Given the description of an element on the screen output the (x, y) to click on. 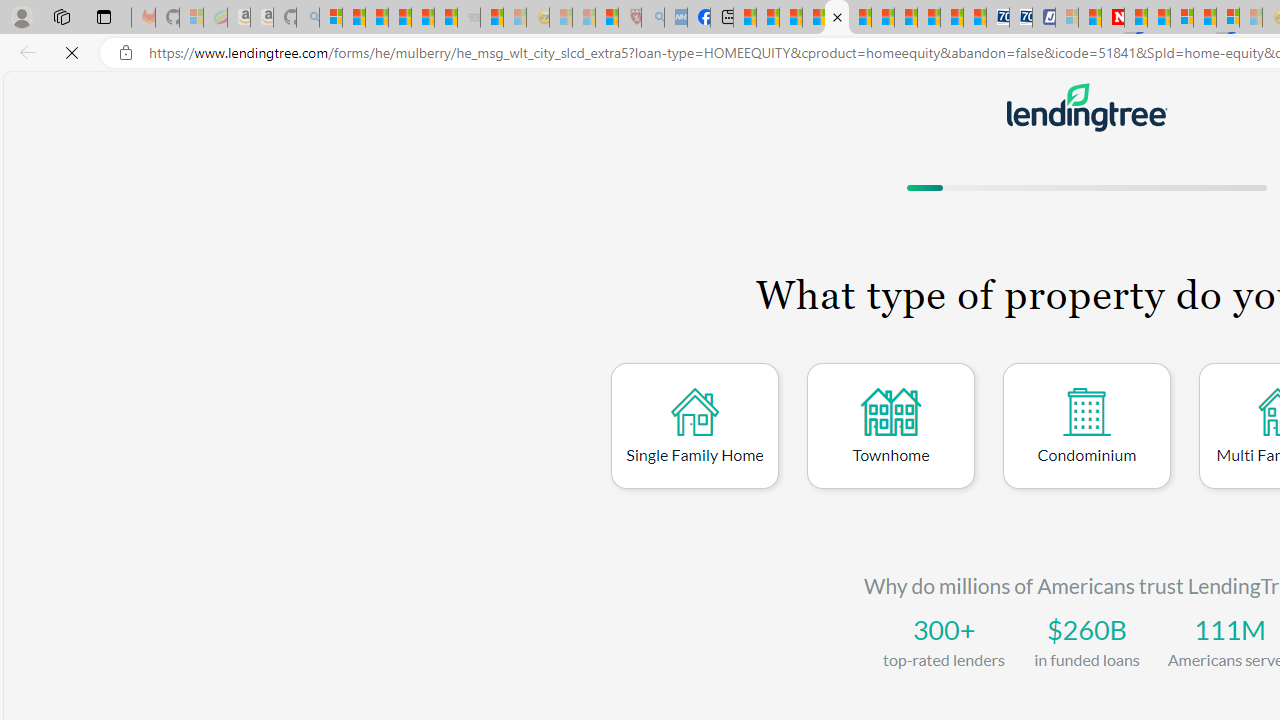
Stocks - MSN (445, 17)
Microsoft Start - Sleeping (515, 17)
To get missing image descriptions, open the context menu. (1086, 106)
Recipes - MSN - Sleeping (561, 17)
Robert H. Shmerling, MD - Harvard Health - Sleeping (630, 17)
